Given the description of an element on the screen output the (x, y) to click on. 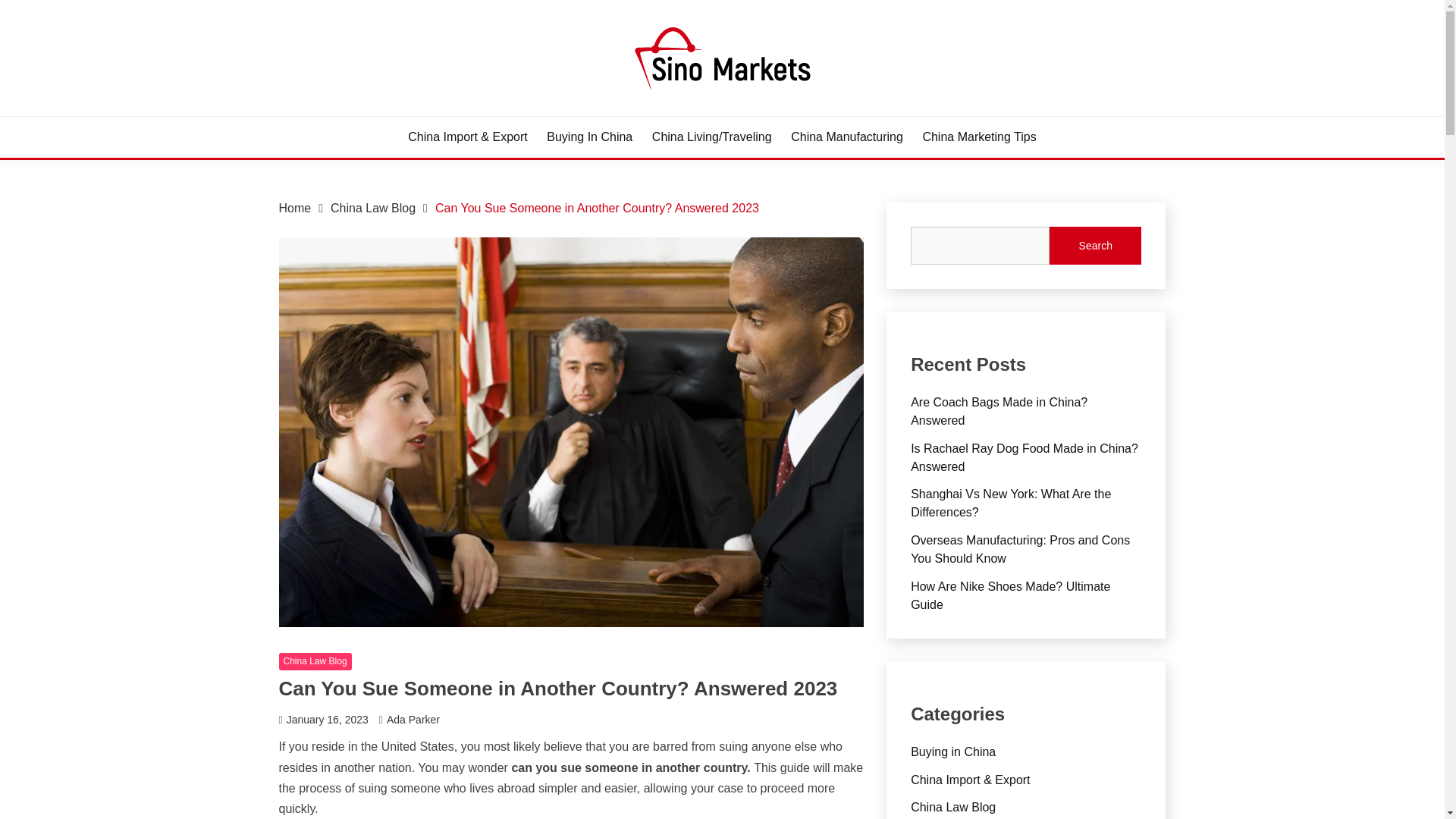
China Manufacturing (846, 136)
China Law Blog (315, 661)
Can You Sue Someone in Another Country? Answered 2023 (596, 207)
January 16, 2023 (327, 719)
SINO MARKETS (386, 113)
Ada Parker (413, 719)
China Law Blog (372, 207)
Home (295, 207)
Buying In China (589, 136)
China Marketing Tips (978, 136)
